Given the description of an element on the screen output the (x, y) to click on. 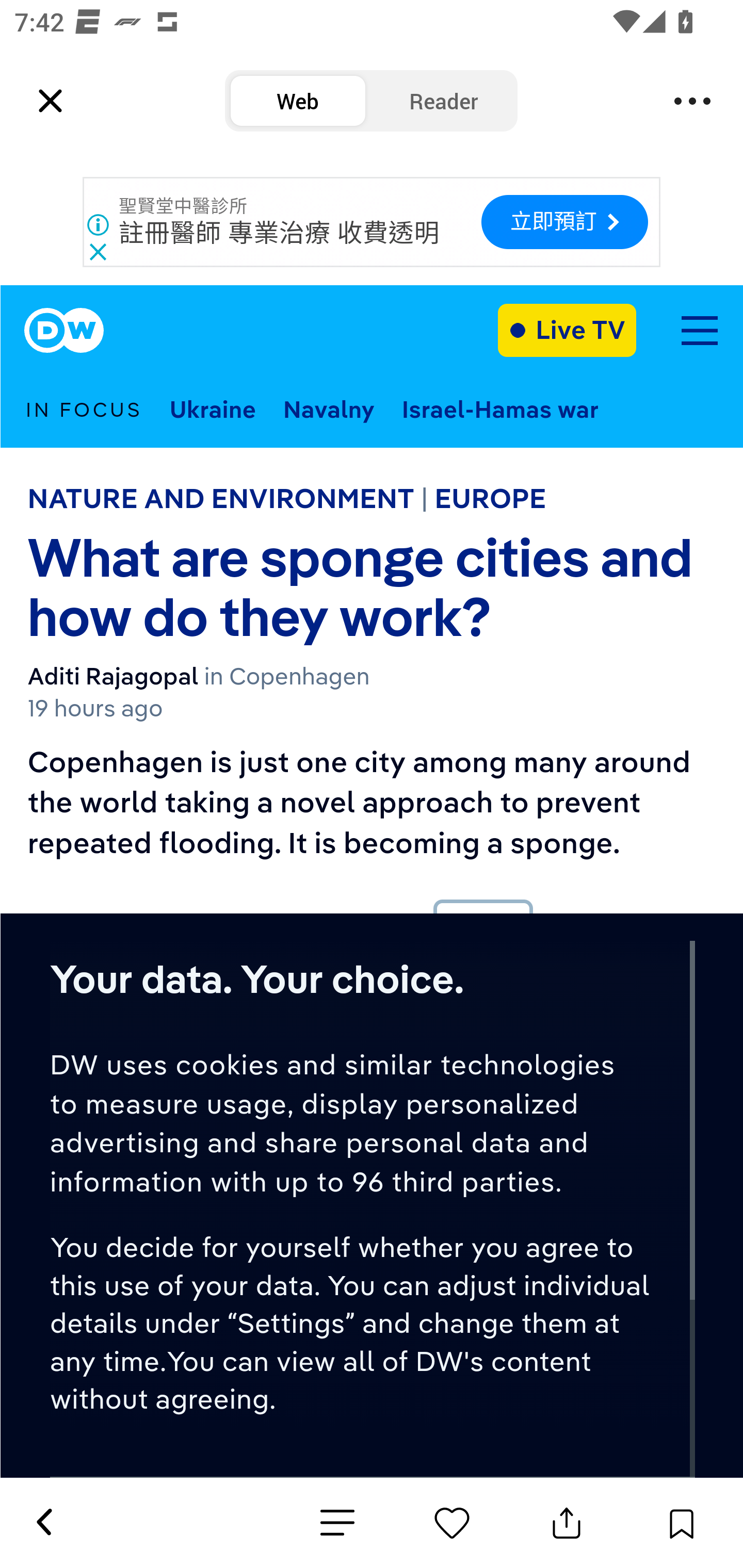
Leading Icon (50, 101)
Reader (443, 101)
Menu (692, 101)
聖賢堂中醫診所 (183, 205)
立即預訂 (564, 221)
註冊醫師 專業治療 收費透明 (279, 232)
Open main navigation (699, 330)
Live TV (567, 329)
dw.com home - Made for minds (63, 330)
Ukraine (212, 409)
Navalny (328, 409)
Israel-Hamas war (500, 409)
NATURE AND ENVIRONMENT (221, 497)
EUROPE (490, 497)
Back Button (43, 1523)
News Detail Emotion (451, 1523)
Share Button (566, 1523)
Save Button (680, 1523)
News Detail Emotion (337, 1523)
